Given the description of an element on the screen output the (x, y) to click on. 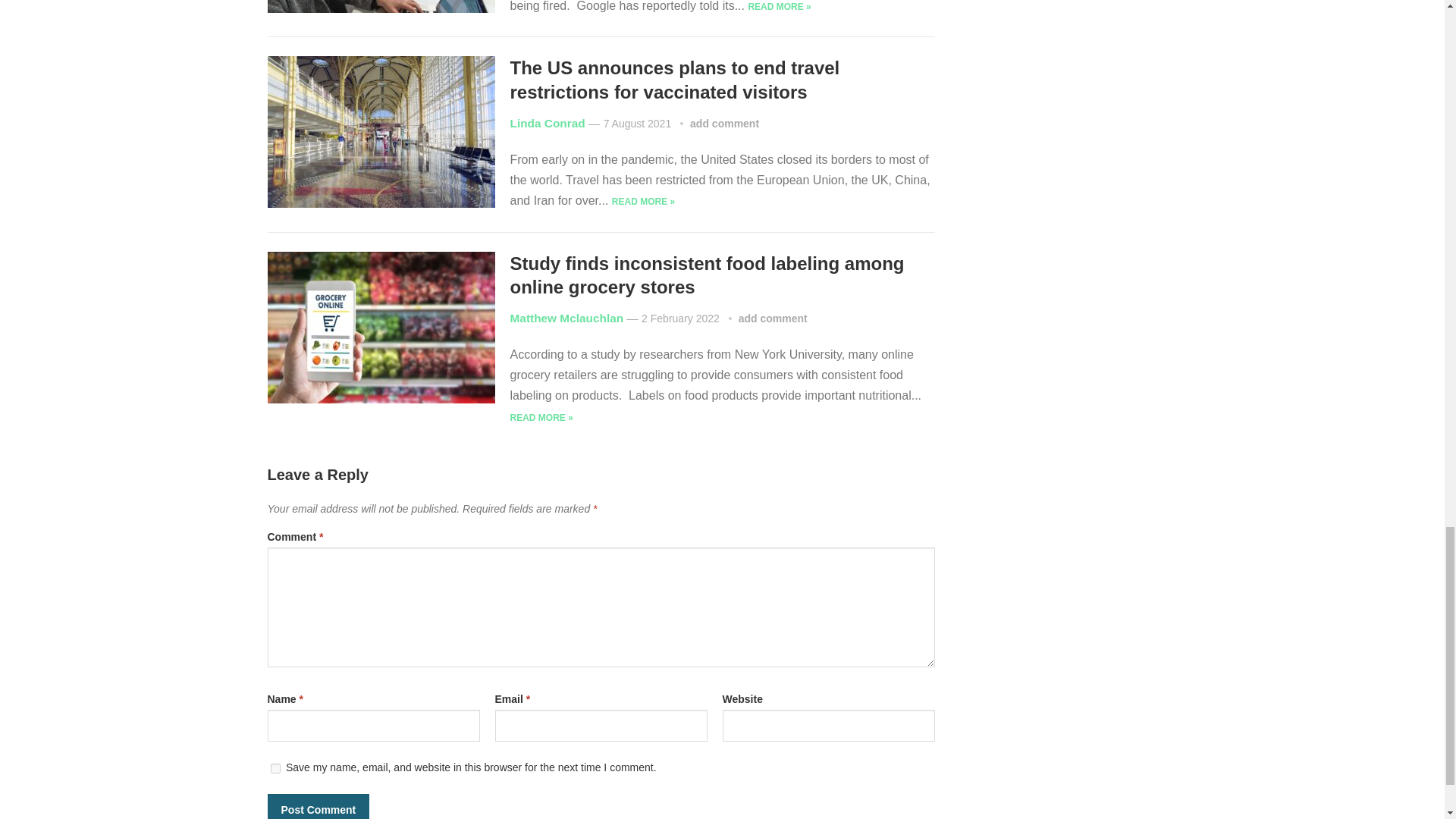
Linda Conrad (547, 123)
yes (274, 768)
Posts by Matthew Mclauchlan (566, 318)
add comment (724, 123)
Post Comment (317, 806)
Posts by Linda Conrad (547, 123)
